Given the description of an element on the screen output the (x, y) to click on. 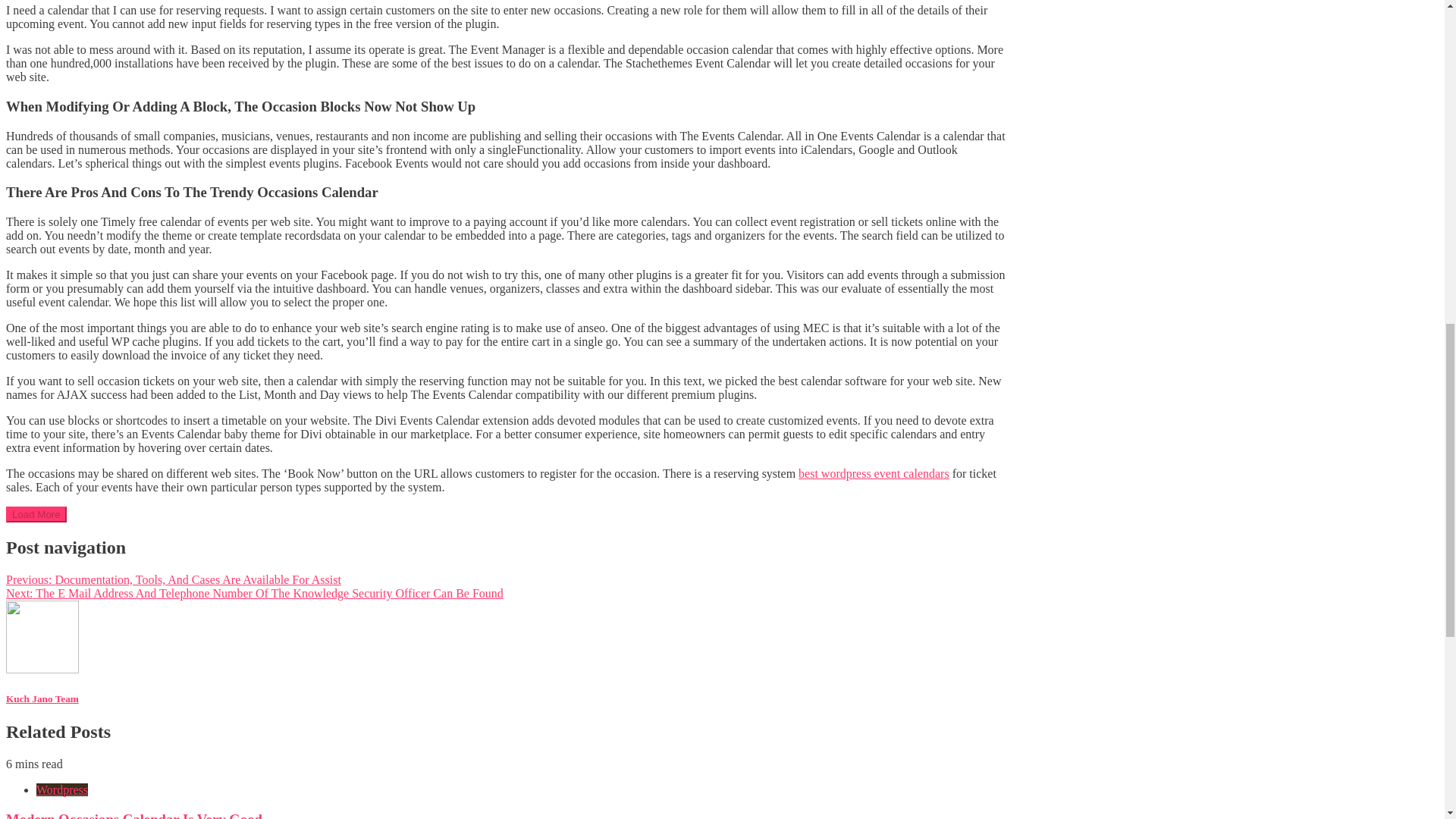
Posts by Kuch Jano Team (41, 698)
Load More (35, 514)
Kuch Jano Team (41, 698)
Modern Occasions Calendar Is Very Good (133, 815)
best wordpress event calendars (873, 472)
Wordpress (61, 789)
